Given the description of an element on the screen output the (x, y) to click on. 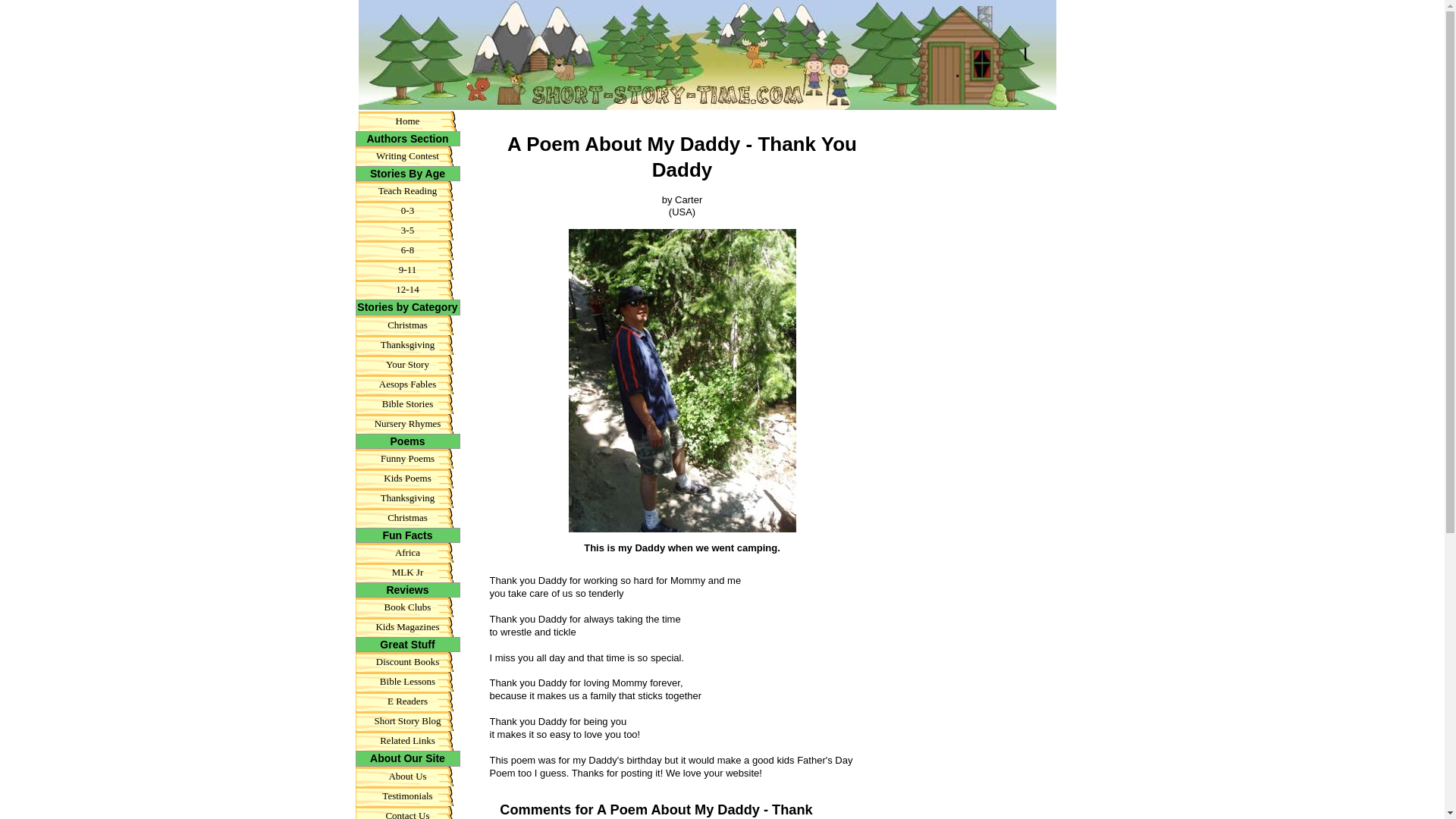
Africa (407, 552)
0-3 (407, 210)
Testimonials (407, 795)
Kids Magazines (407, 627)
Discount Books (407, 661)
Christmas (407, 517)
E Readers (407, 701)
Book Clubs (407, 607)
Home (407, 121)
Contact Us (407, 812)
Bible Lessons (407, 681)
3-5 (407, 230)
Your Story (407, 364)
MLK Jr (407, 572)
Thanksgiving (407, 497)
